Given the description of an element on the screen output the (x, y) to click on. 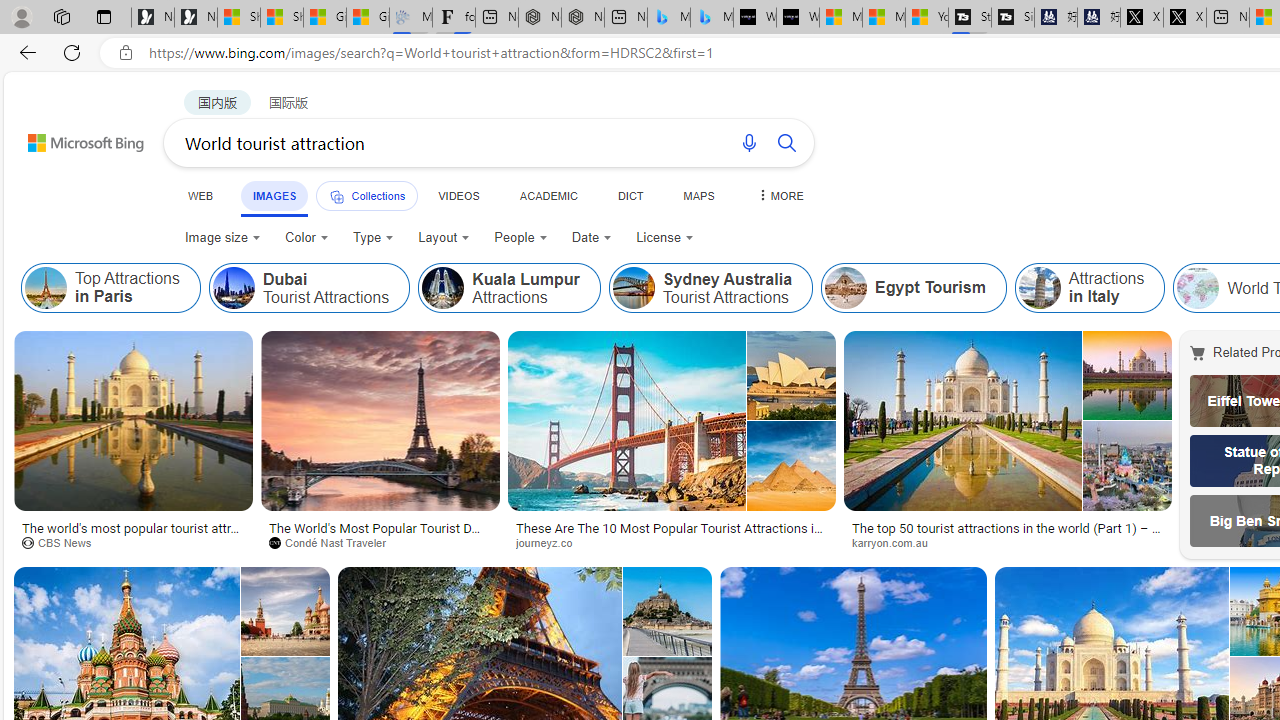
Type (373, 237)
Dropdown Menu (779, 195)
Kuala Lumpur Attractions (443, 287)
journeyz.co (671, 542)
WEB (201, 195)
Search using voice (748, 142)
DICT (630, 195)
karryon.com.au (1007, 542)
World Tourist (1198, 287)
